Given the description of an element on the screen output the (x, y) to click on. 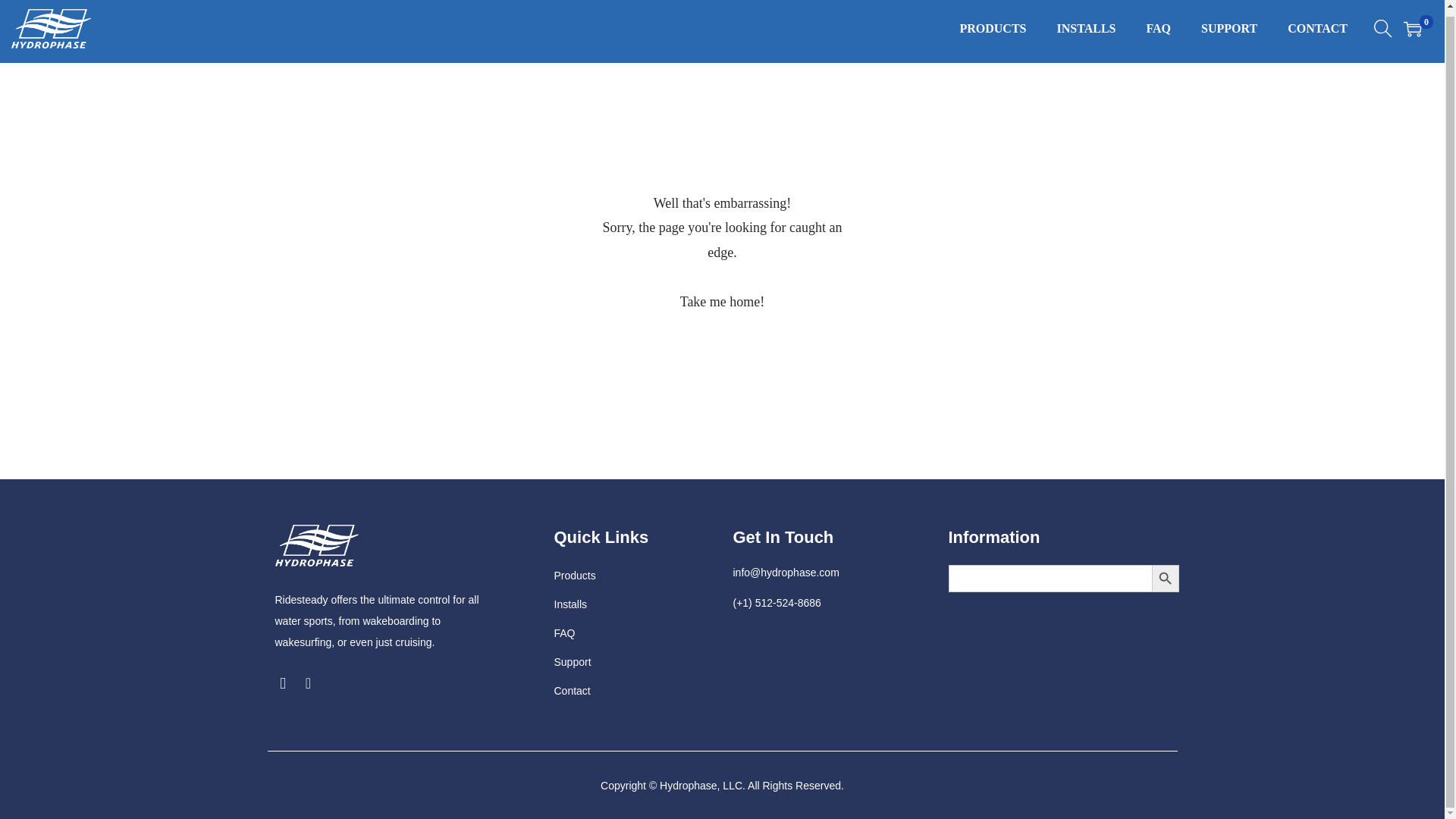
SUPPORT (1229, 31)
0 (1412, 28)
Contact (571, 690)
PRODUCTS (992, 31)
FAQ (564, 633)
CONTACT (1317, 31)
Support (572, 662)
INSTALLS (1086, 31)
Installs (569, 604)
Take me home! (722, 301)
Search Button (1164, 578)
Products (574, 575)
